Given the description of an element on the screen output the (x, y) to click on. 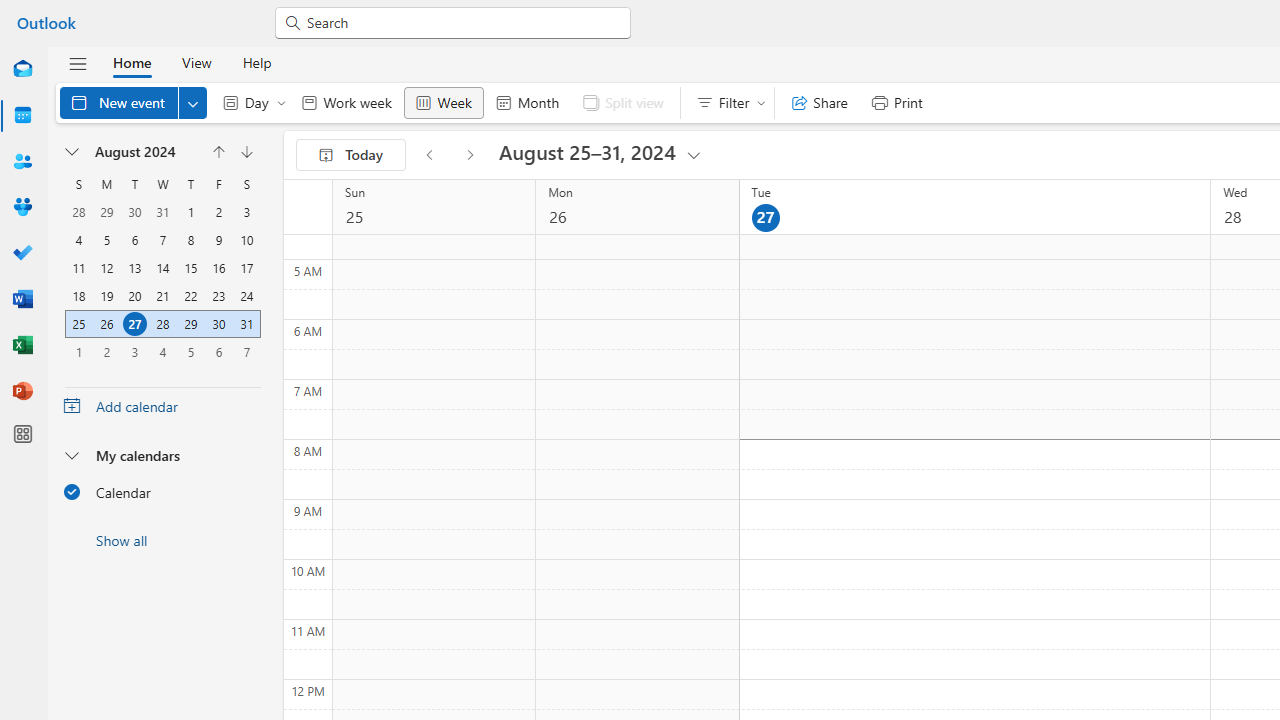
Groups (22, 207)
23, August, 2024 (218, 296)
9, August, 2024 (218, 240)
7, September, 2024 (246, 351)
24, August, 2024 (246, 296)
19, August, 2024 (107, 296)
6, September, 2024 (218, 351)
17, August, 2024 (246, 268)
System (10, 11)
6, August, 2024 (134, 239)
28, July, 2024 (79, 212)
21, August, 2024 (162, 296)
11, August, 2024 (78, 268)
24, August, 2024 (246, 295)
25, August, 2024 (79, 323)
